Given the description of an element on the screen output the (x, y) to click on. 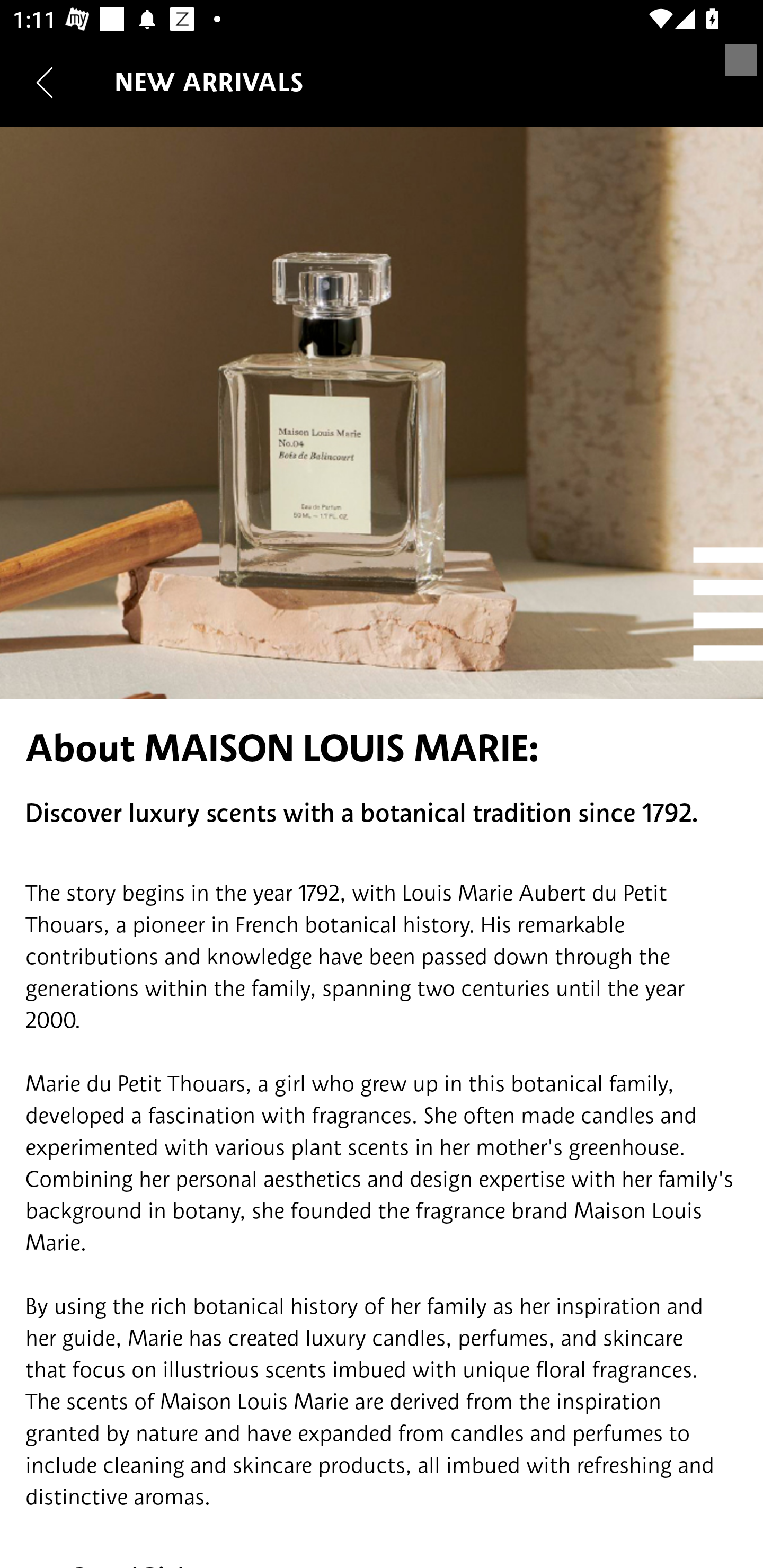
Navigate up (44, 82)
About MAISON LOUIS MARIE: (381, 747)
